Given the description of an element on the screen output the (x, y) to click on. 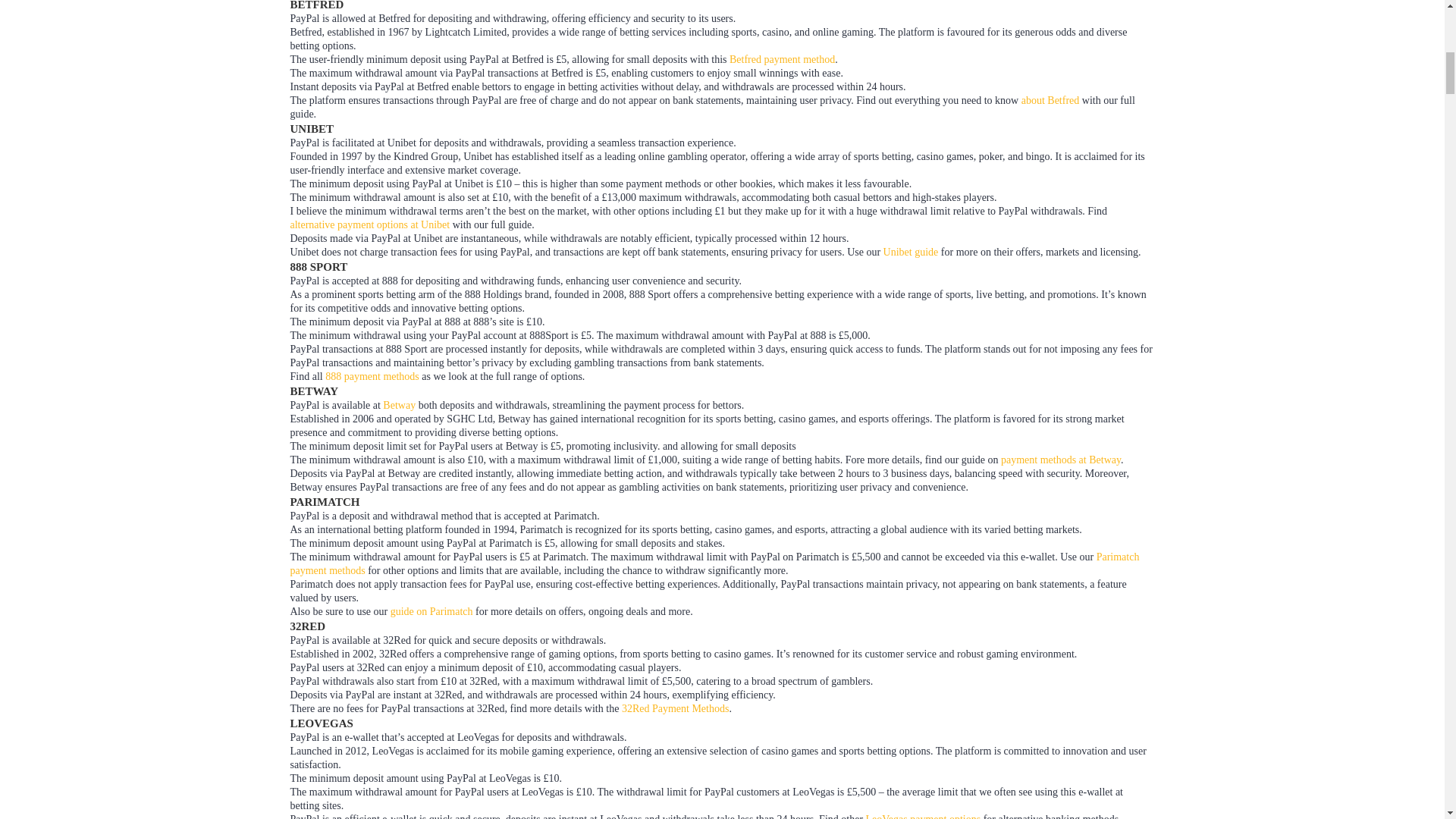
Betway (398, 405)
Betfred payment method (781, 59)
Parimatch payment methods (713, 563)
LeoVegas payment options (923, 816)
alternative payment options at Unibet (369, 224)
payment methods at Betway (1061, 460)
guide on Parimatch (431, 611)
32Red Payment Methods (675, 708)
Betfred payment method (781, 59)
guide on Parimatch (431, 611)
